Given the description of an element on the screen output the (x, y) to click on. 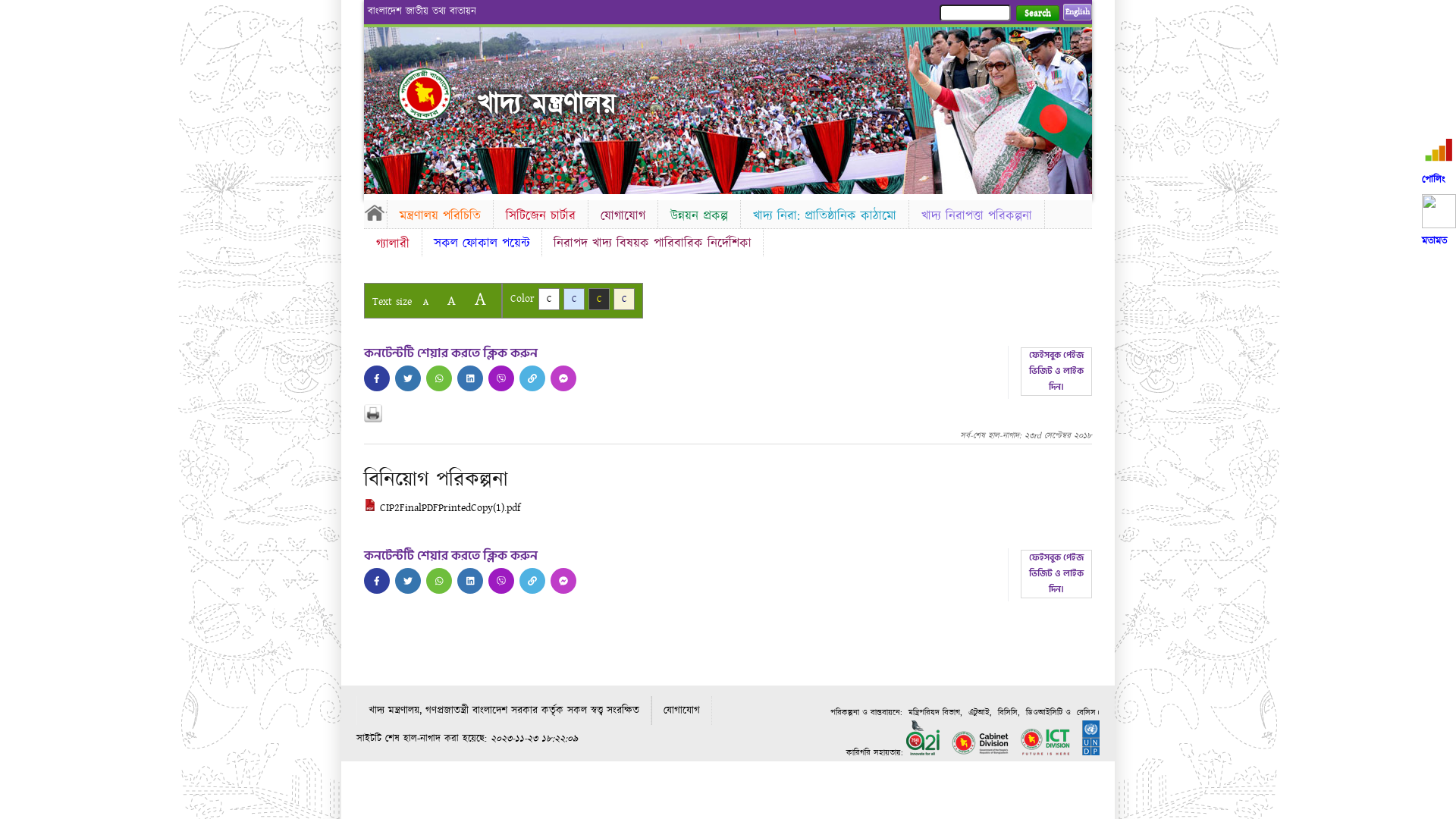
Home Element type: hover (375, 211)
C Element type: text (548, 299)
A Element type: text (451, 300)
Home Element type: hover (437, 93)
CIP2FinalPDFPrintedCopy(1).pdf Element type: text (442, 507)
Search Element type: text (1037, 13)
C Element type: text (598, 299)
A Element type: text (480, 298)
English Element type: text (1077, 11)
C Element type: text (623, 299)
A Element type: text (425, 301)
C Element type: text (573, 299)
